Given the description of an element on the screen output the (x, y) to click on. 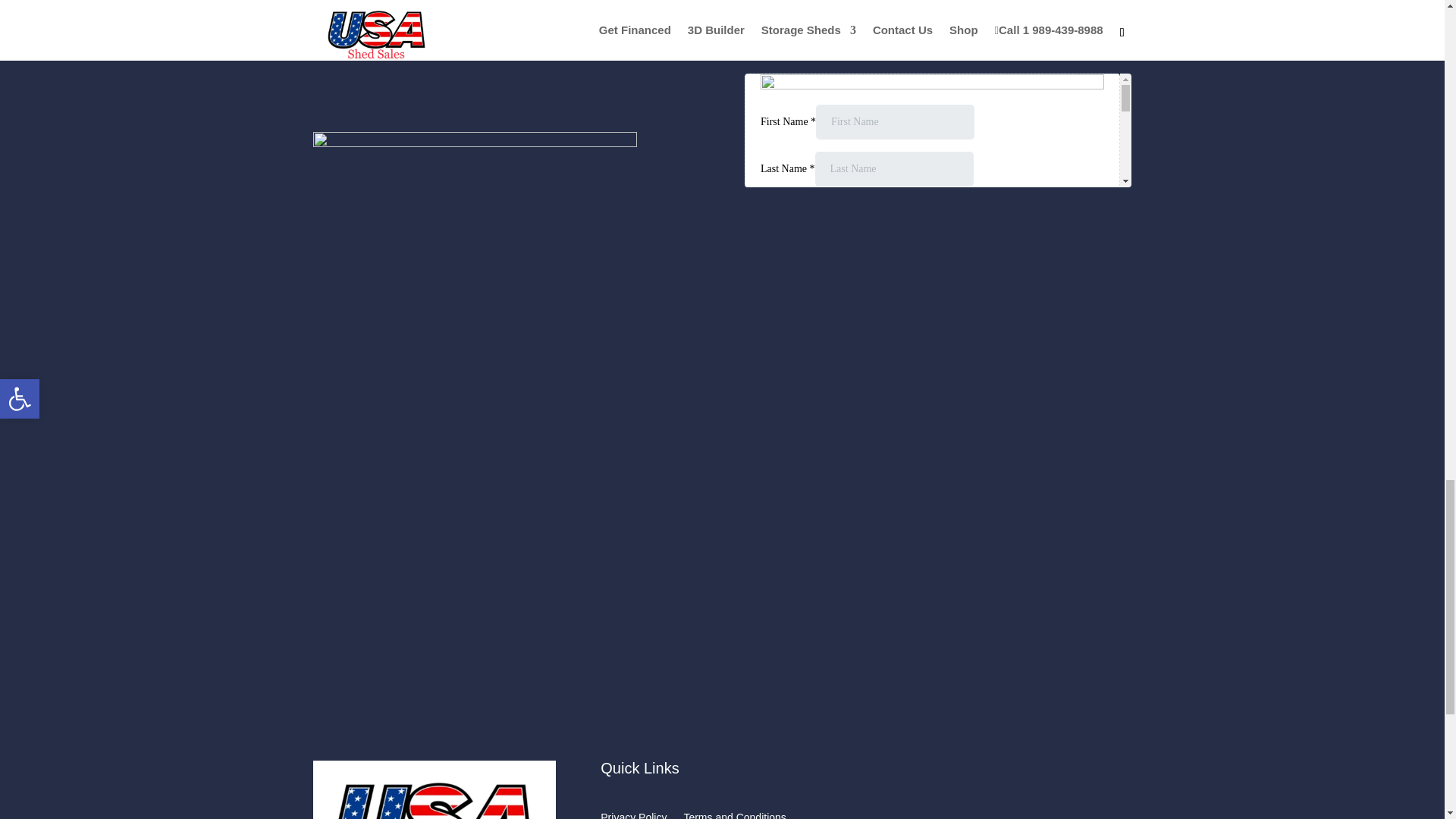
Privacy Policy (632, 815)
USA Shed Sales (433, 789)
Form 0 (937, 130)
Terms and Conditions (734, 815)
